Given the description of an element on the screen output the (x, y) to click on. 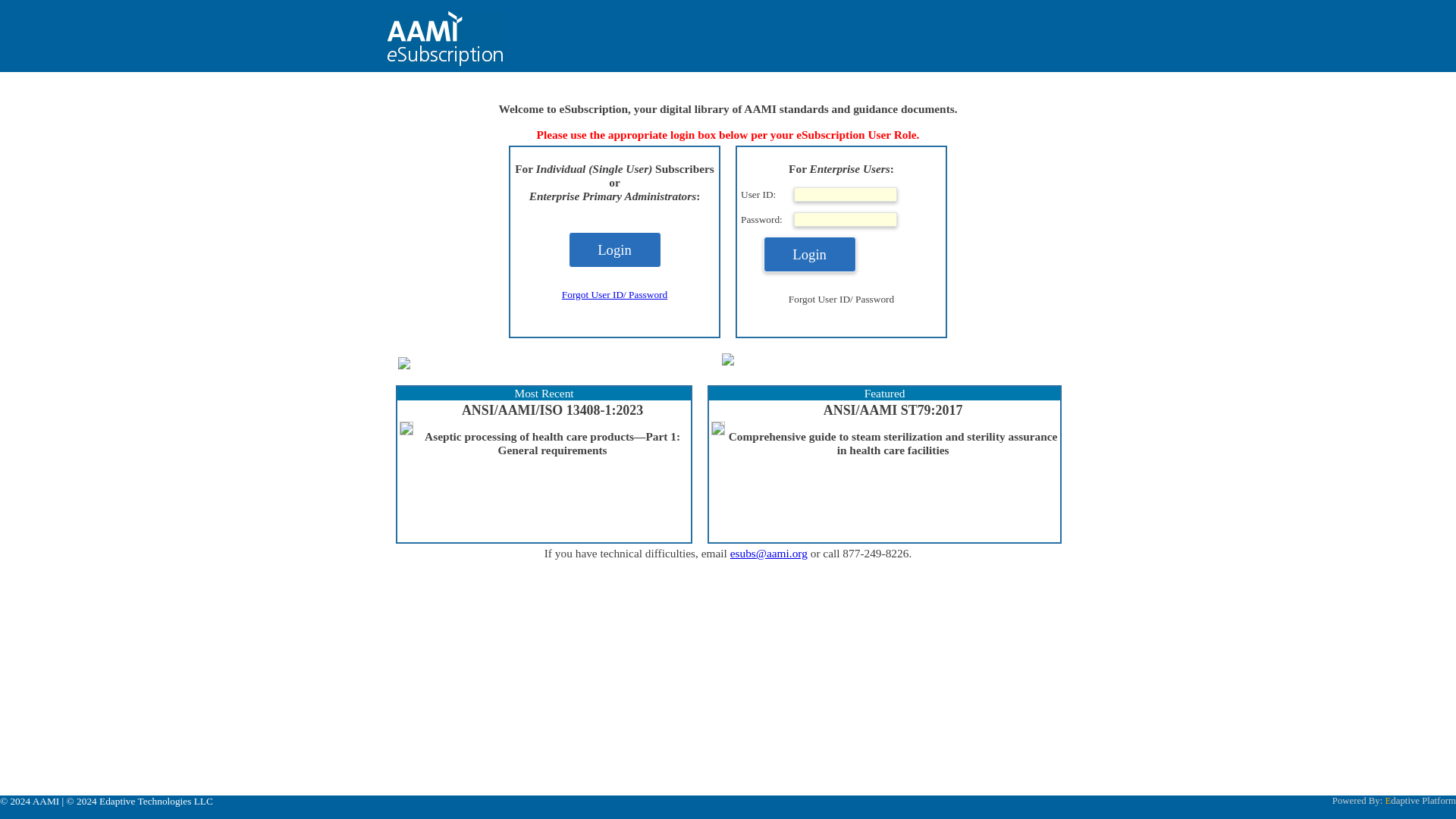
Submit (809, 253)
Login (809, 253)
Login (615, 249)
Login (809, 253)
